Given the description of an element on the screen output the (x, y) to click on. 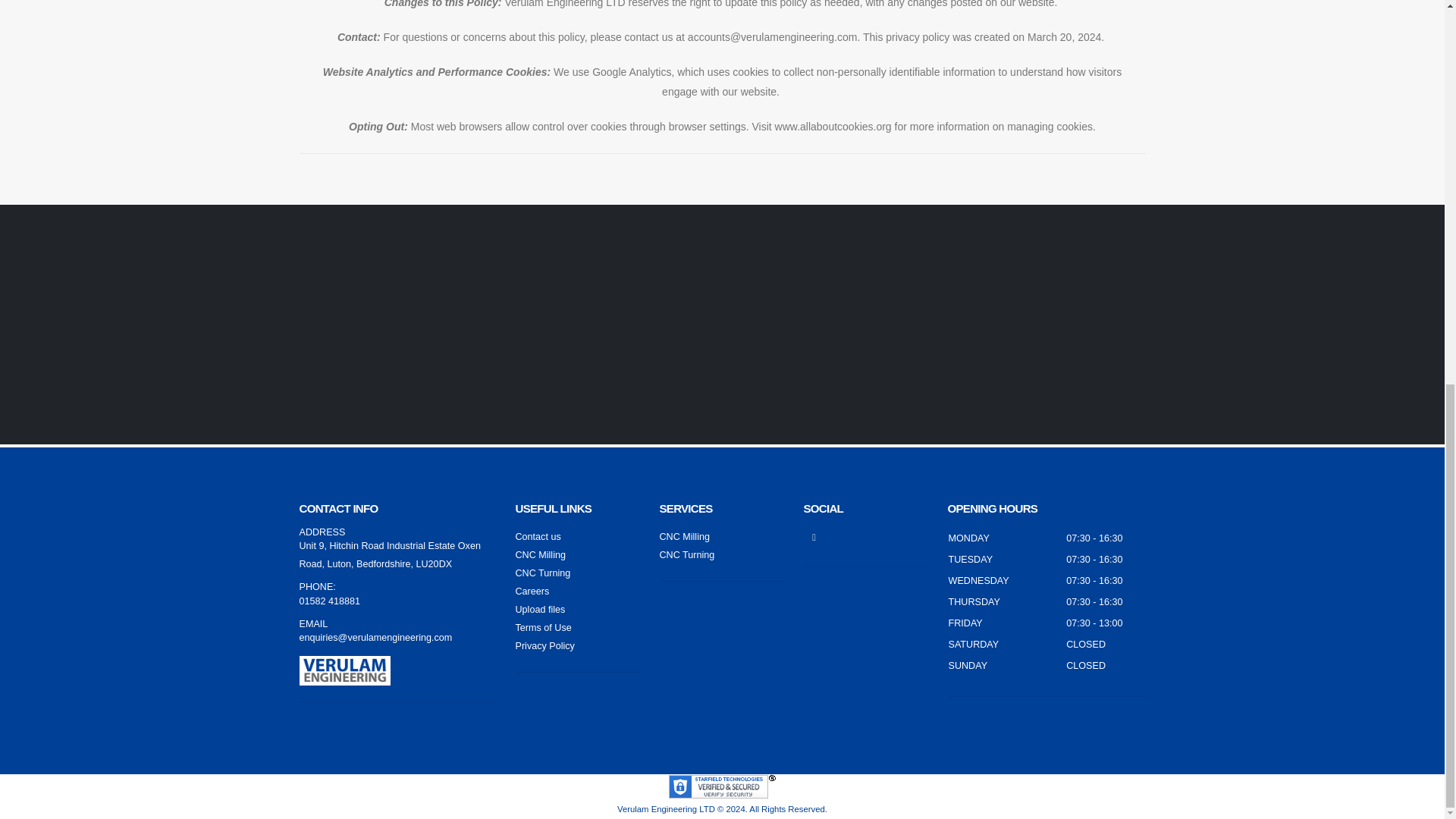
Linkedin (814, 537)
Terms of Use (543, 627)
Privacy Policy (545, 645)
CNC Milling (684, 536)
CNC Milling (540, 554)
CNC Turning (542, 573)
Contact us (537, 536)
CNC Turning (686, 554)
01582 418881 (328, 601)
Careers (532, 591)
Upload files (540, 609)
